Given the description of an element on the screen output the (x, y) to click on. 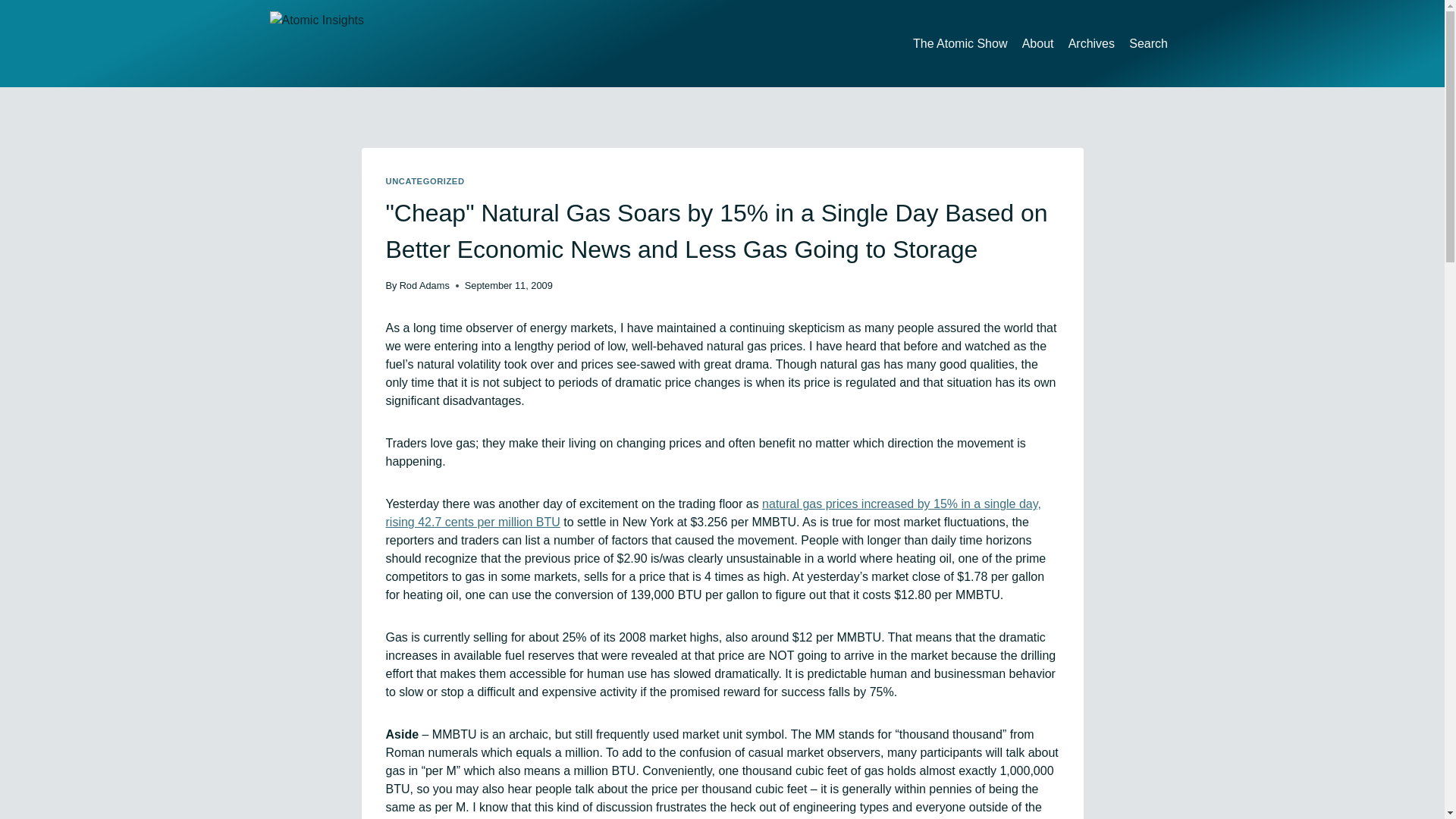
UNCATEGORIZED (424, 180)
Archives (1091, 43)
Atomic Insights Archives (1091, 43)
Rod Adams (423, 285)
About (1037, 43)
About Atomic Insights (1037, 43)
Search Atomic Insights (1148, 43)
Search (1148, 43)
The Atomic Show (959, 43)
The Atomic Show Podcast (959, 43)
